Given the description of an element on the screen output the (x, y) to click on. 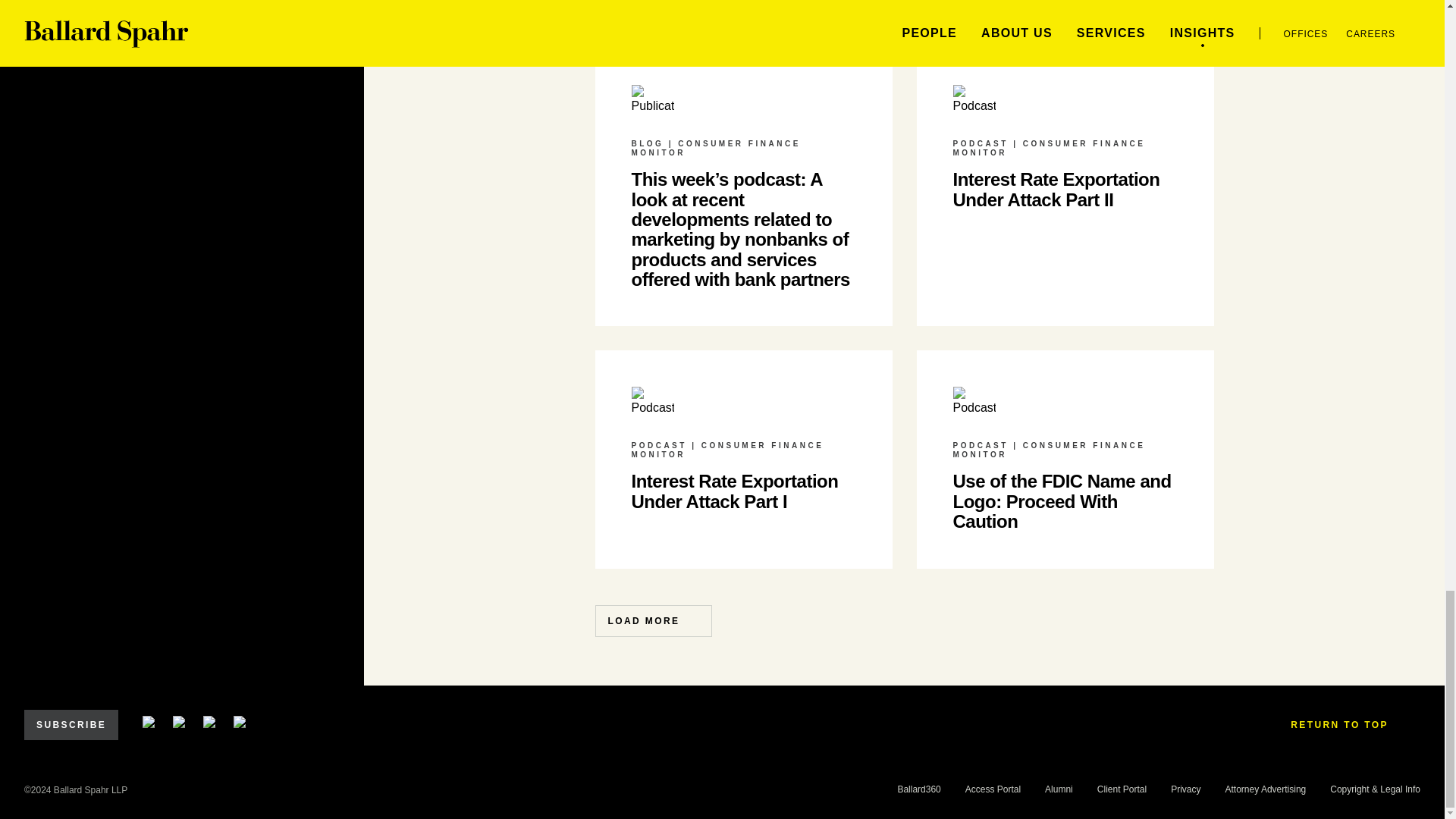
RETURN TO TOP (1349, 725)
Ballard360 (918, 788)
LOAD MORE (652, 621)
SUBSCRIBE (70, 725)
